Given the description of an element on the screen output the (x, y) to click on. 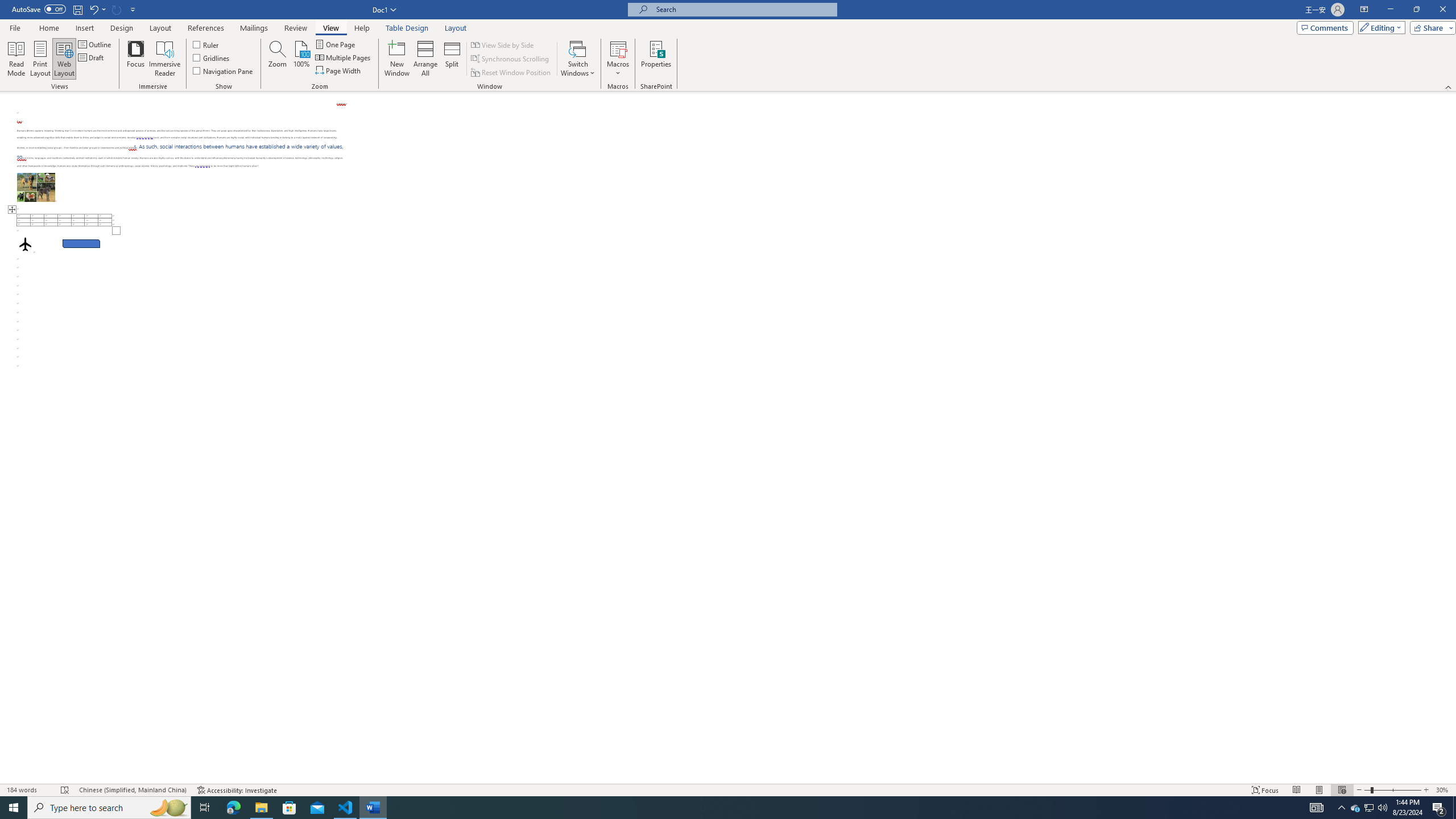
Can't Repeat (117, 9)
Immersive Reader (165, 58)
Outline (95, 44)
Split (451, 58)
Draft (91, 56)
Switch Windows (577, 58)
